Given the description of an element on the screen output the (x, y) to click on. 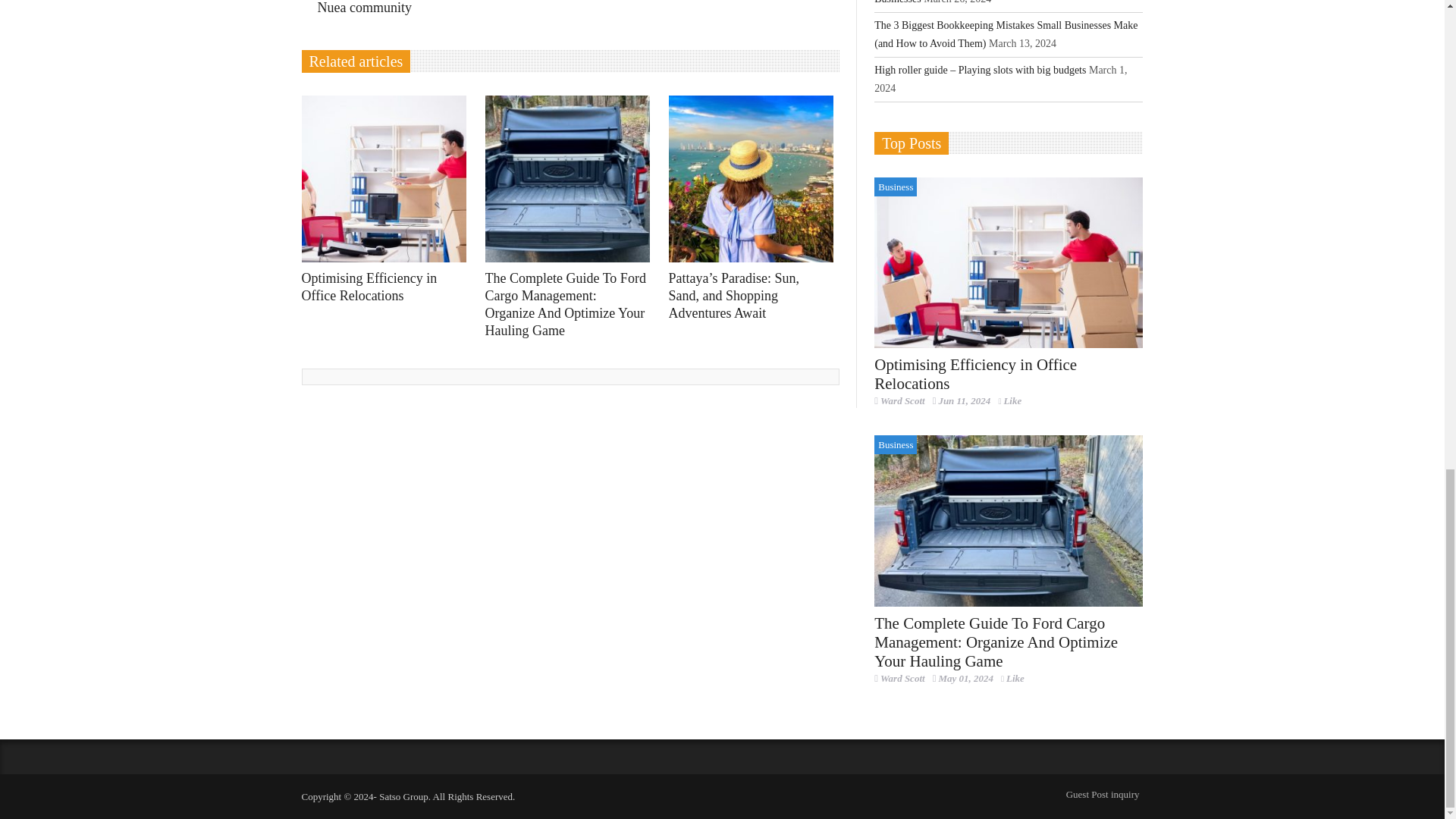
Posts by Ward Scott (902, 677)
Like (1013, 677)
Like (1009, 400)
Optimising Efficiency in Office Relocations (1008, 262)
Optimising Efficiency in Office Relocations (387, 178)
Posts by Ward Scott (902, 400)
